Given the description of an element on the screen output the (x, y) to click on. 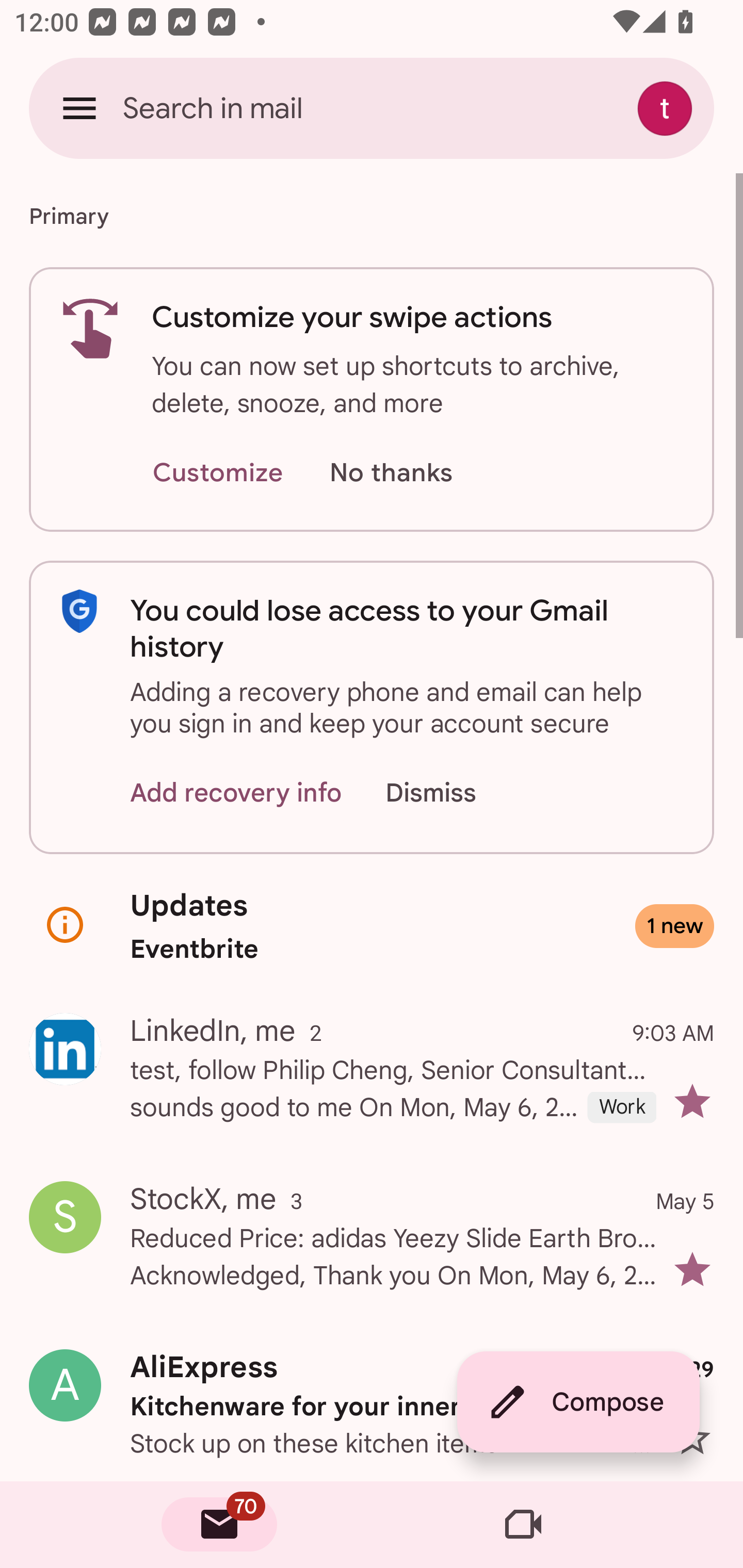
Open navigation drawer (79, 108)
Customize (217, 473)
No thanks (390, 473)
Add recovery info (235, 792)
Dismiss (449, 792)
Updates Eventbrite 1 new (371, 926)
Compose (577, 1401)
Meet (523, 1524)
